Given the description of an element on the screen output the (x, y) to click on. 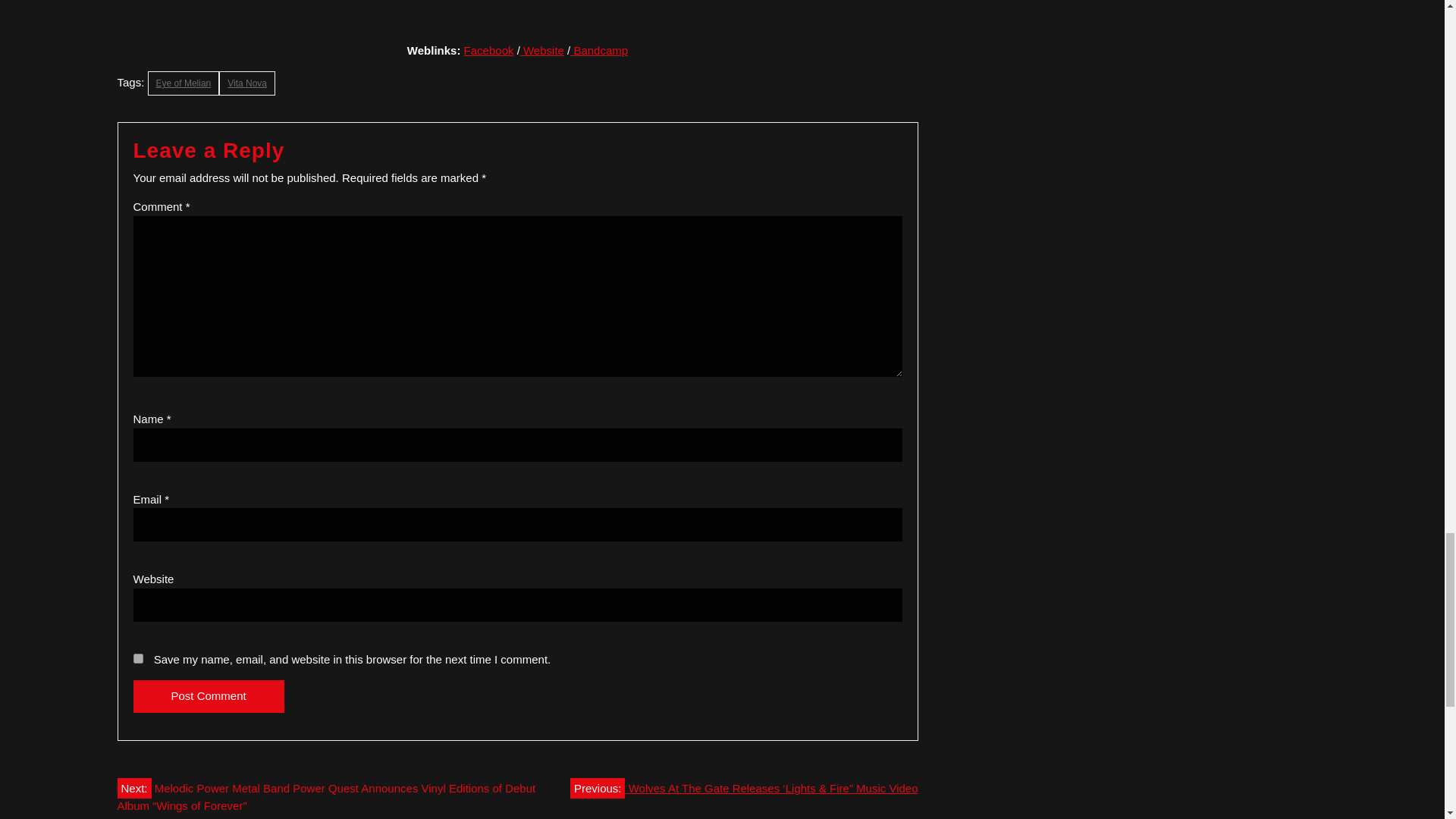
Facebook (488, 50)
yes (137, 658)
 Website (541, 50)
Eye of Melian (183, 83)
Post Comment (208, 696)
Vita Nova (247, 83)
Bandcamp (598, 50)
Post Comment (208, 696)
